Given the description of an element on the screen output the (x, y) to click on. 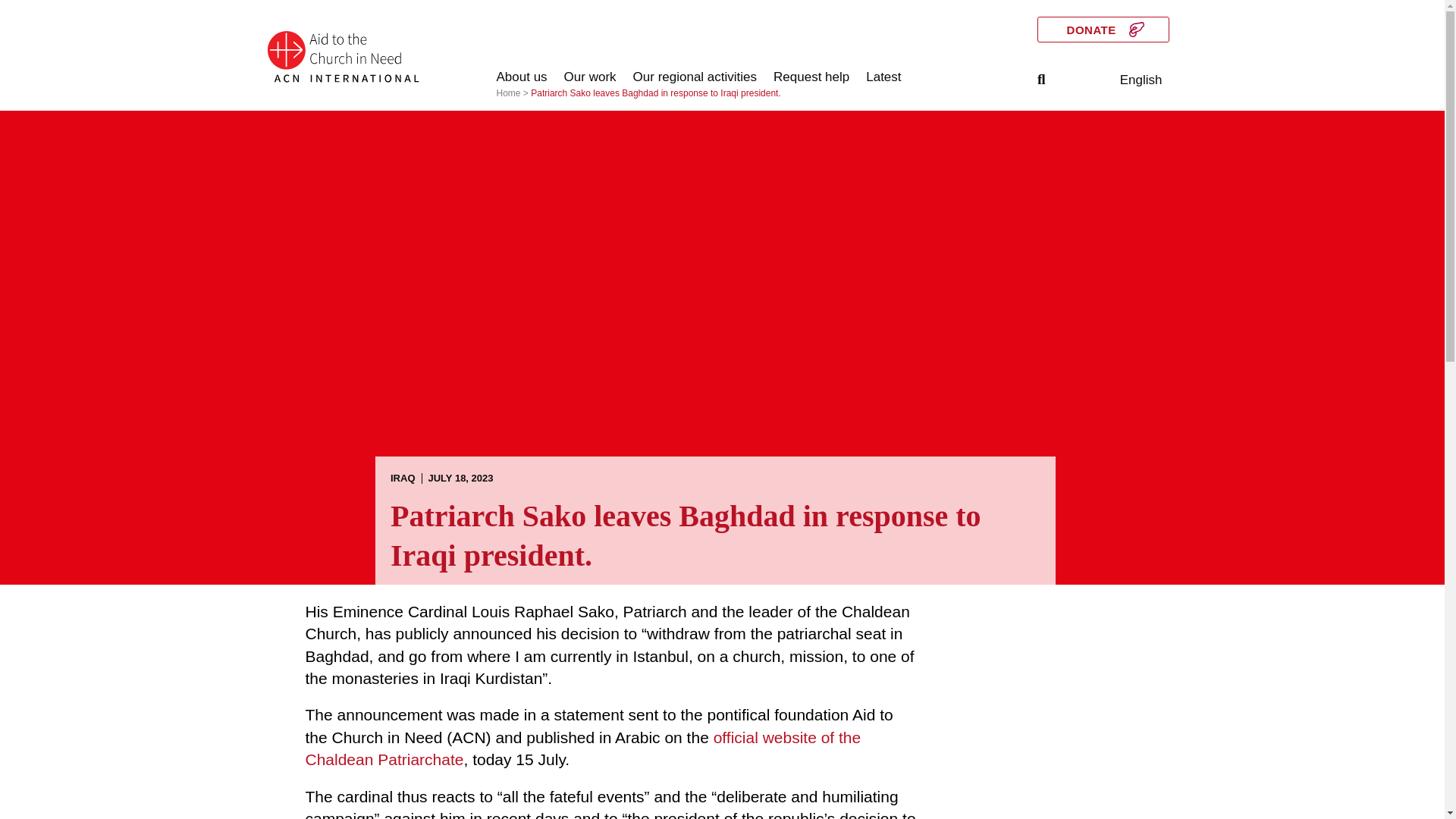
Go to ACN International. (507, 92)
Request help (810, 77)
Latest (883, 77)
Our regional activities (695, 77)
English (1141, 80)
Our work (589, 77)
About us (521, 77)
